Given the description of an element on the screen output the (x, y) to click on. 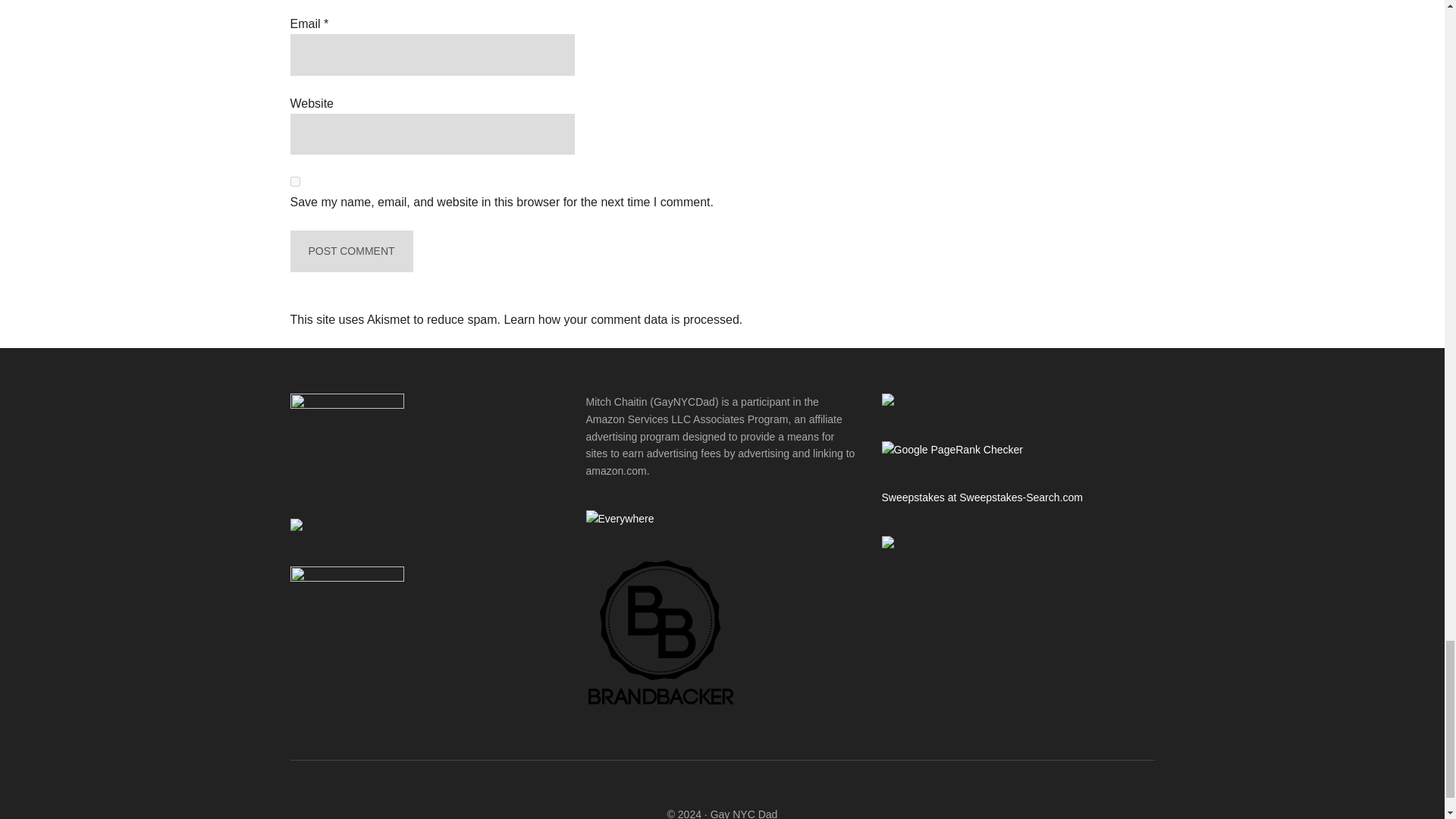
Google PageRank Checker (951, 449)
Post Comment (350, 250)
yes (294, 181)
BrandBacker Member (660, 705)
